Given the description of an element on the screen output the (x, y) to click on. 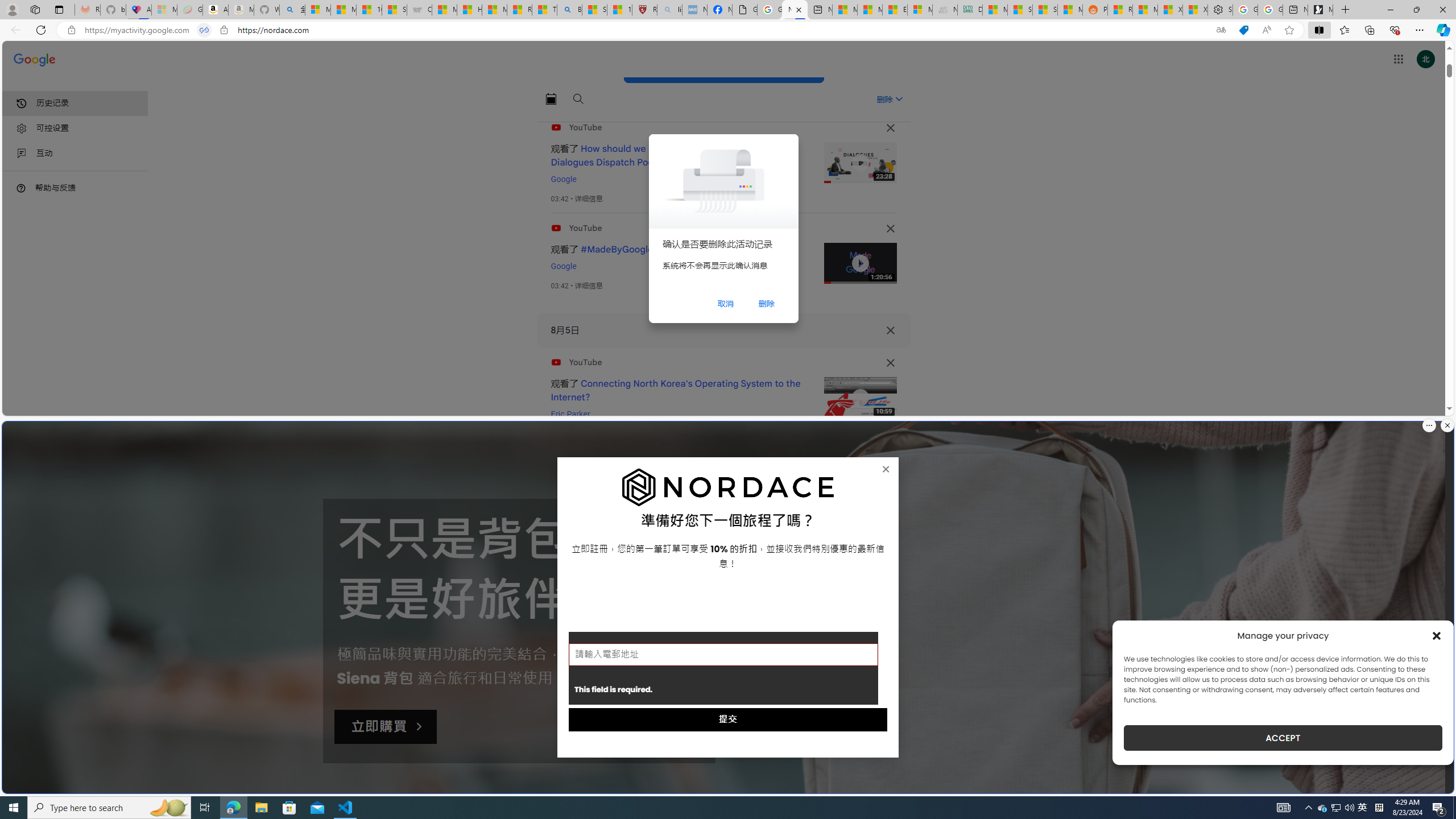
Tabs in split screen (203, 29)
Eric Parker (569, 414)
Google Analytics Opt-out Browser Add-on Download Page (744, 9)
